Given the description of an element on the screen output the (x, y) to click on. 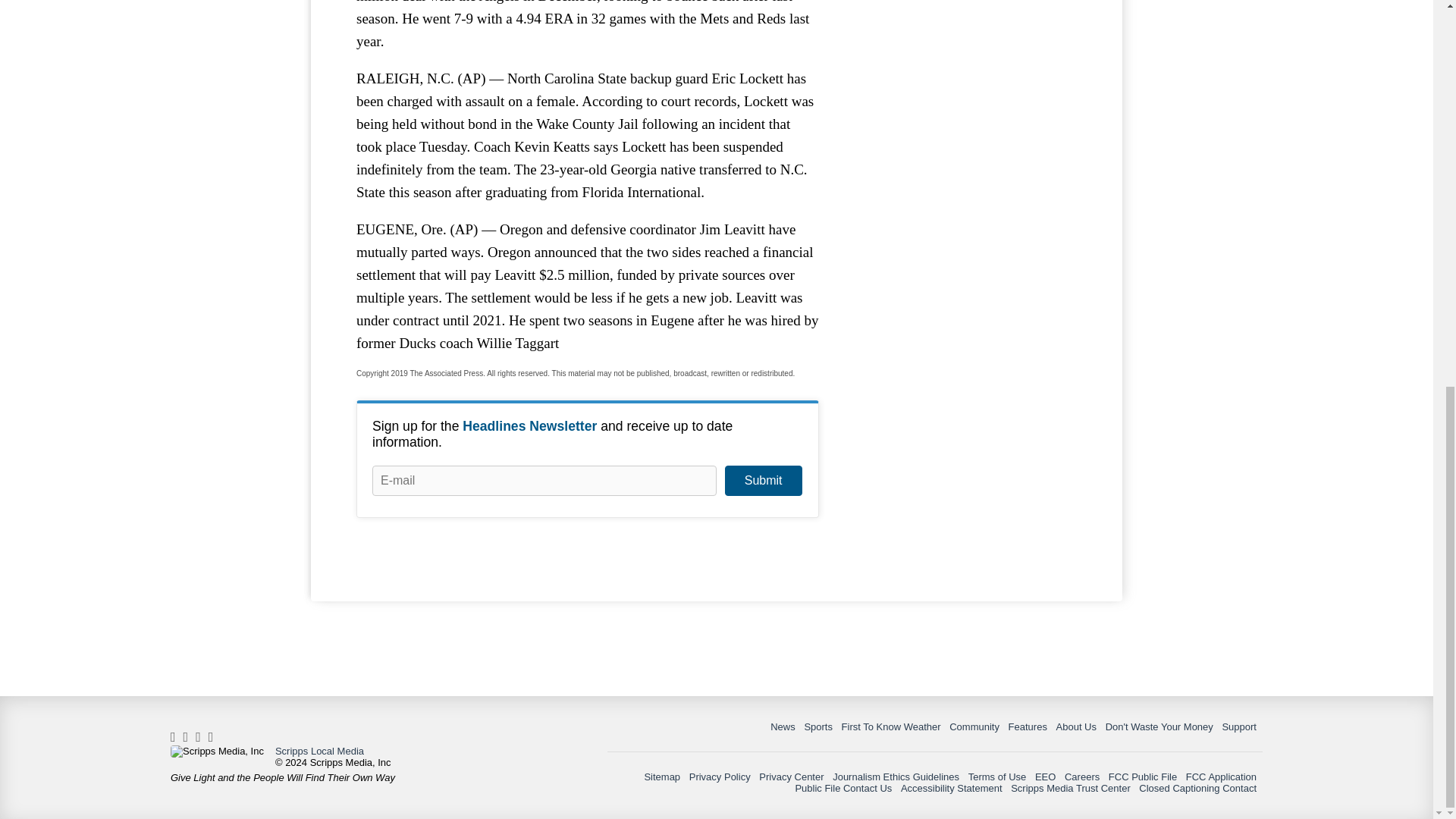
Submit (763, 481)
